Given the description of an element on the screen output the (x, y) to click on. 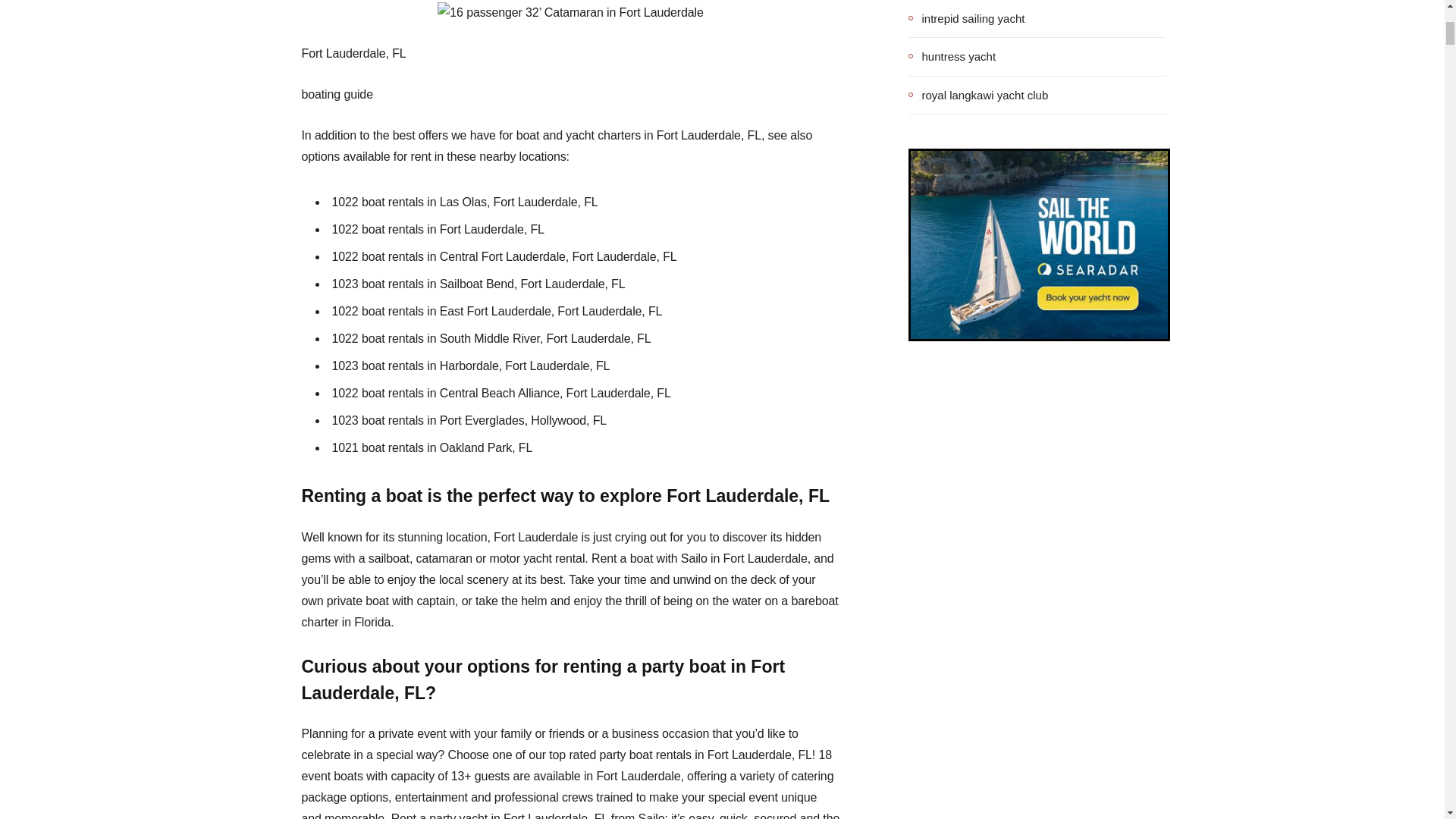
intrepid sailing yacht (966, 18)
Boating is fun with a Pontoon in Fort Lauderdale (570, 12)
royal langkawi yacht club (978, 94)
huntress yacht (951, 56)
